Given the description of an element on the screen output the (x, y) to click on. 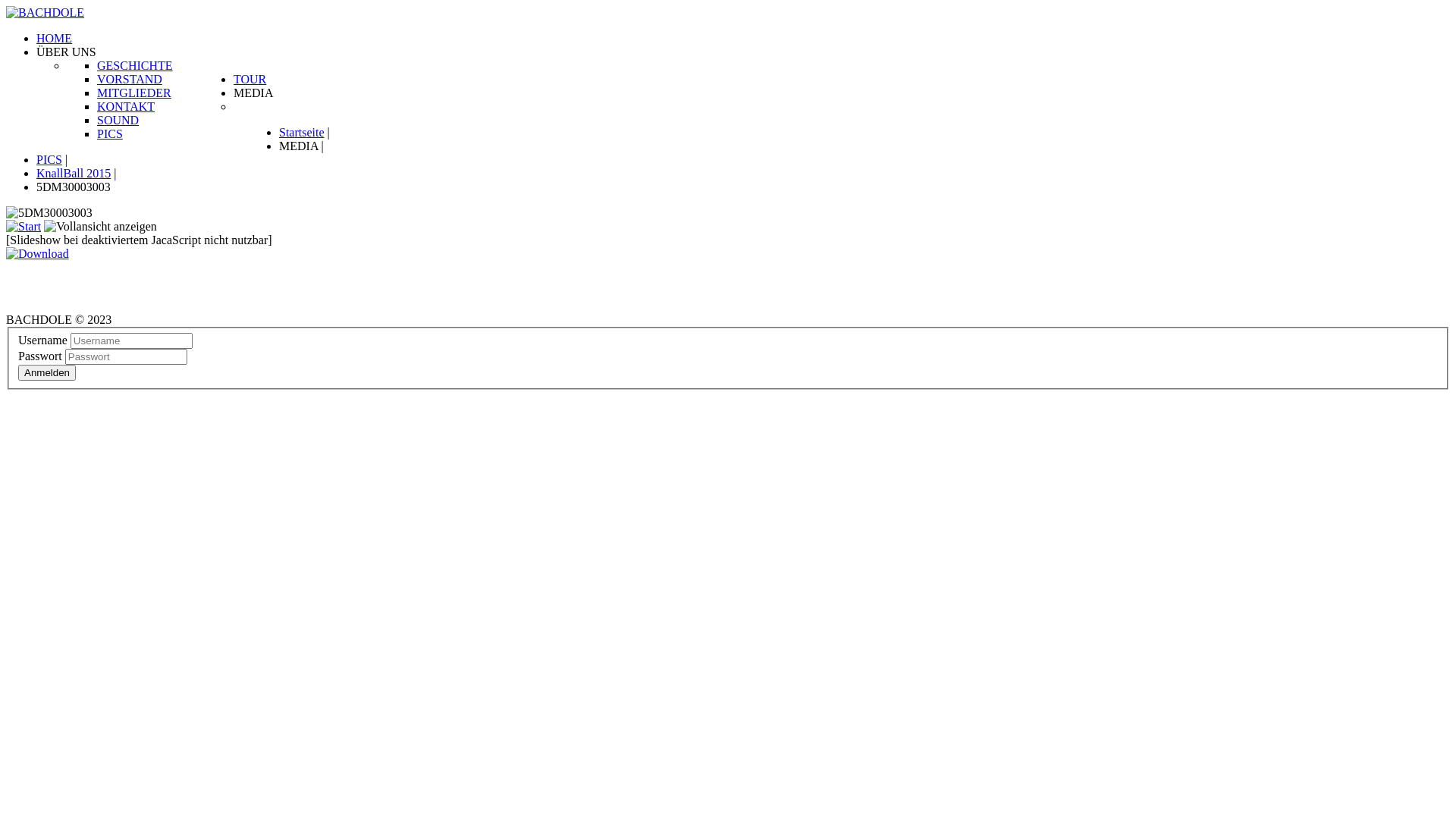
PICS Element type: text (109, 133)
SOUND Element type: text (117, 119)
HOME Element type: text (54, 37)
Startseite Element type: text (301, 131)
VORSTAND Element type: text (129, 78)
PICS Element type: text (49, 159)
MEDIA Element type: text (253, 92)
GESCHICHTE Element type: text (134, 65)
MITGLIEDER Element type: text (134, 92)
TOUR Element type: text (249, 78)
KnallBall 2015 Element type: text (73, 172)
KONTAKT Element type: text (125, 106)
Anmelden Element type: text (46, 372)
